Given the description of an element on the screen output the (x, y) to click on. 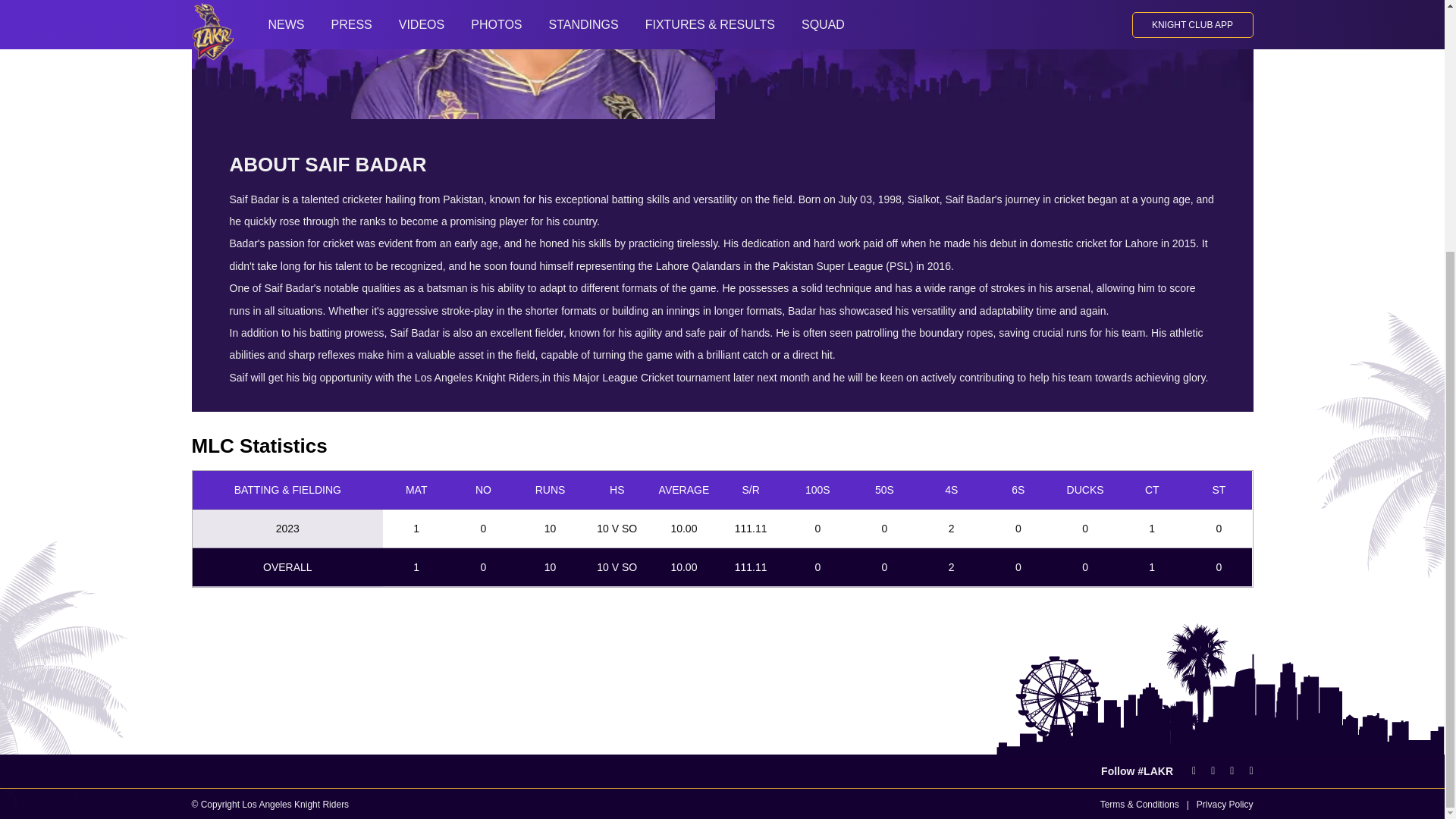
Privacy Policy (1224, 805)
Privacy Policy (1224, 805)
